Given the description of an element on the screen output the (x, y) to click on. 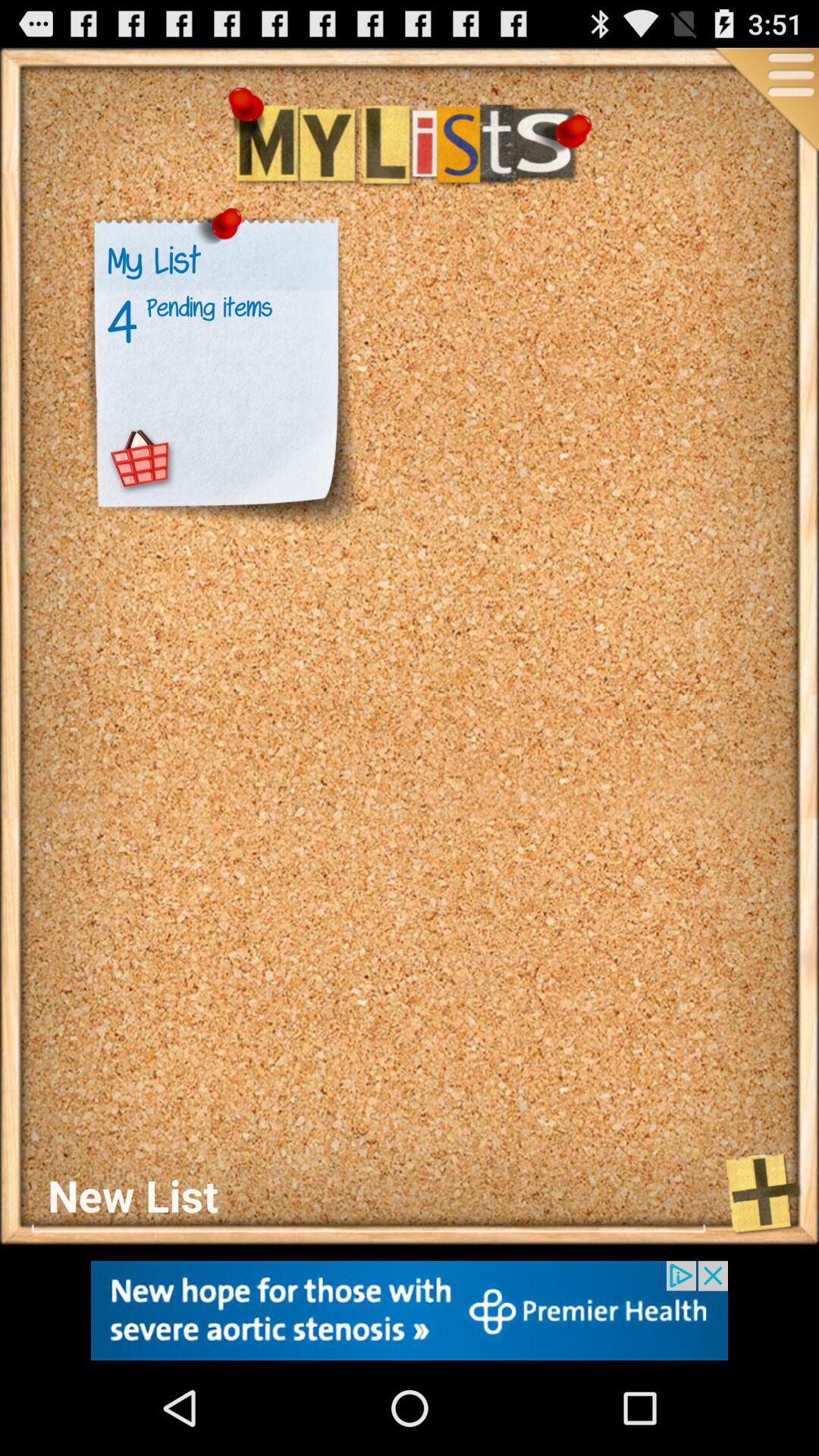
create new list (368, 1195)
